Given the description of an element on the screen output the (x, y) to click on. 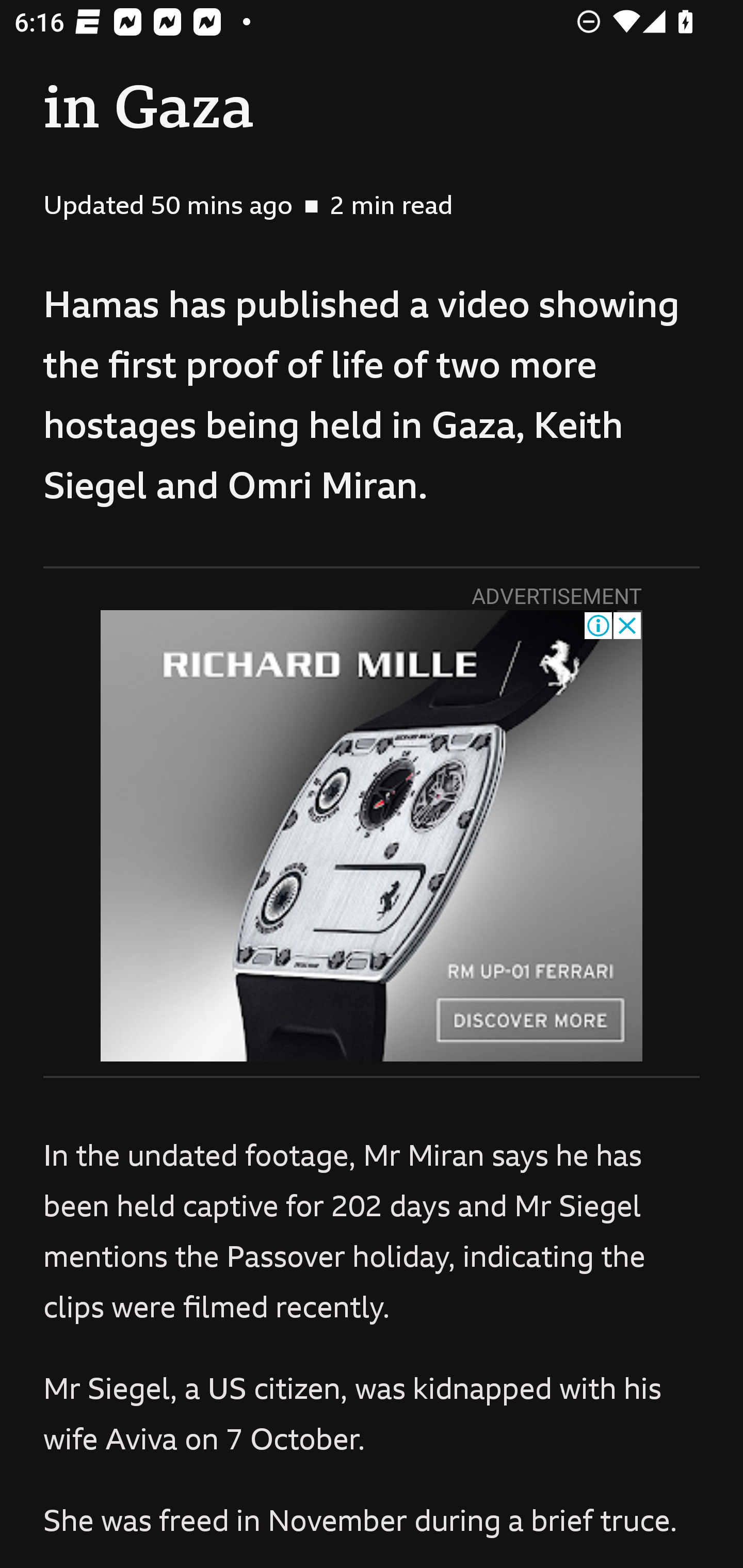
Advertisement (371, 835)
